Given the description of an element on the screen output the (x, y) to click on. 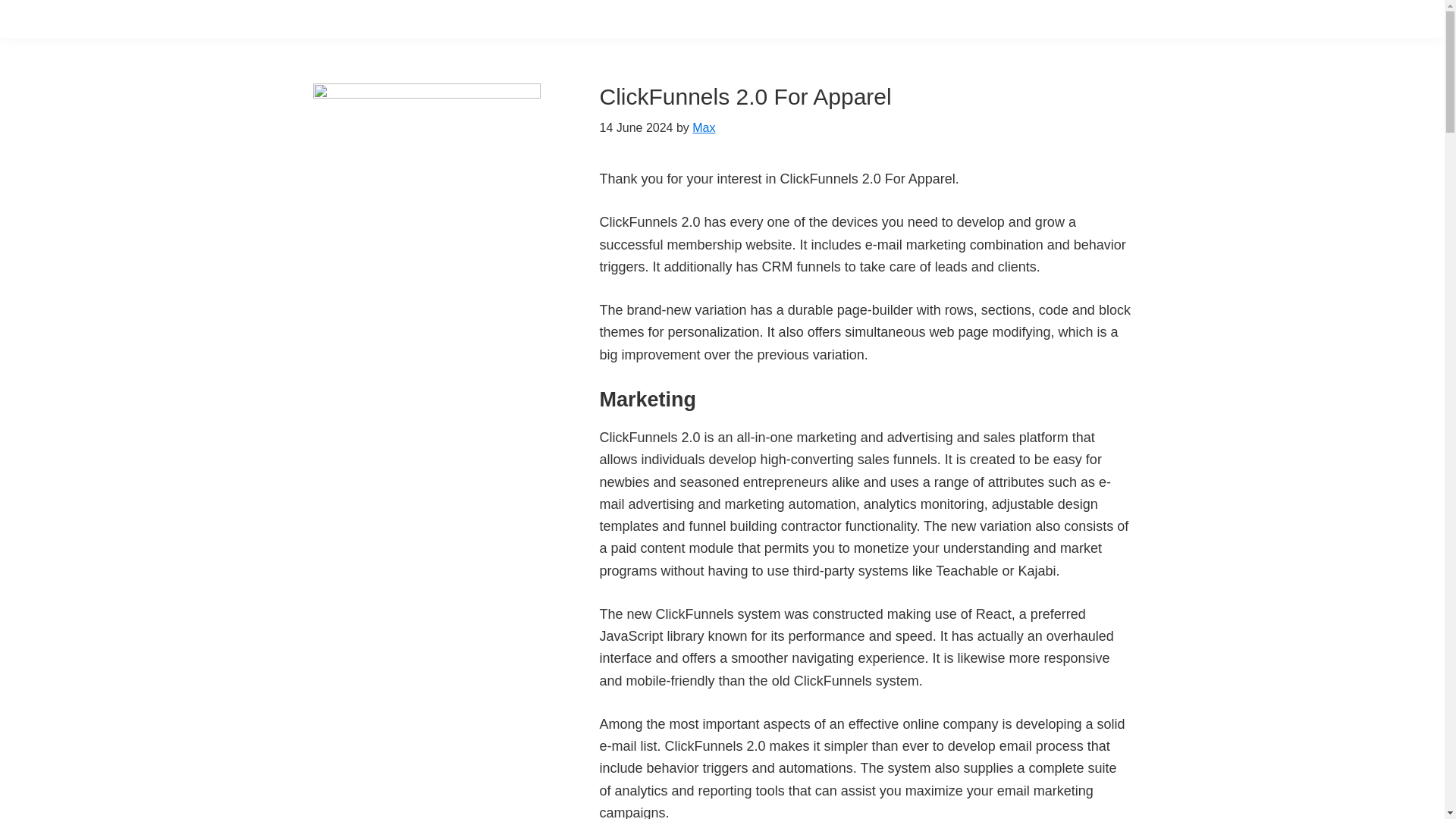
Max (703, 127)
